Given the description of an element on the screen output the (x, y) to click on. 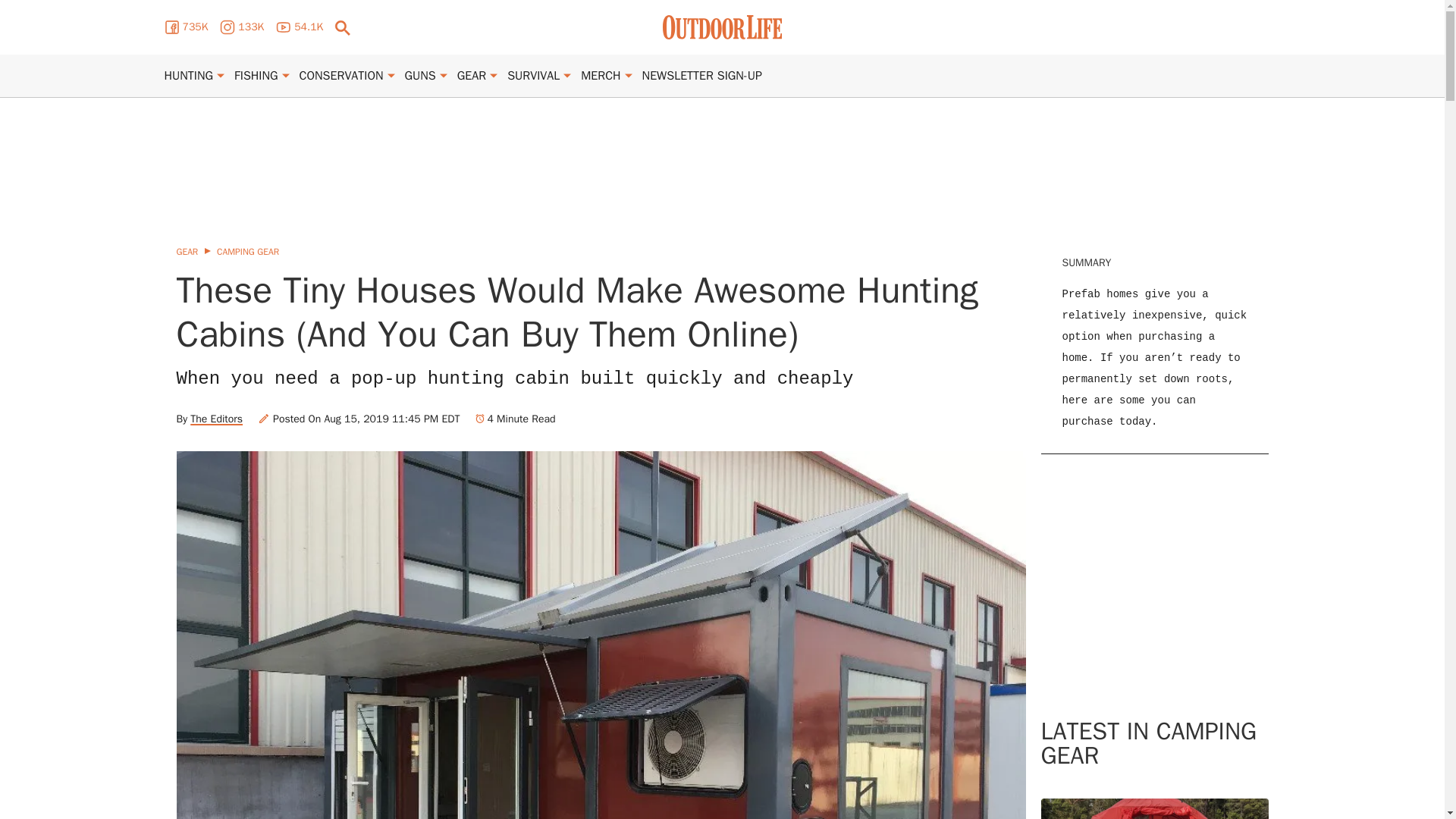
Merch (600, 75)
Newsletter Sign-up (701, 75)
Guns (419, 75)
Hunting (187, 75)
Gear (471, 75)
Conservation (341, 75)
Survival (532, 75)
Fishing (256, 75)
